Given the description of an element on the screen output the (x, y) to click on. 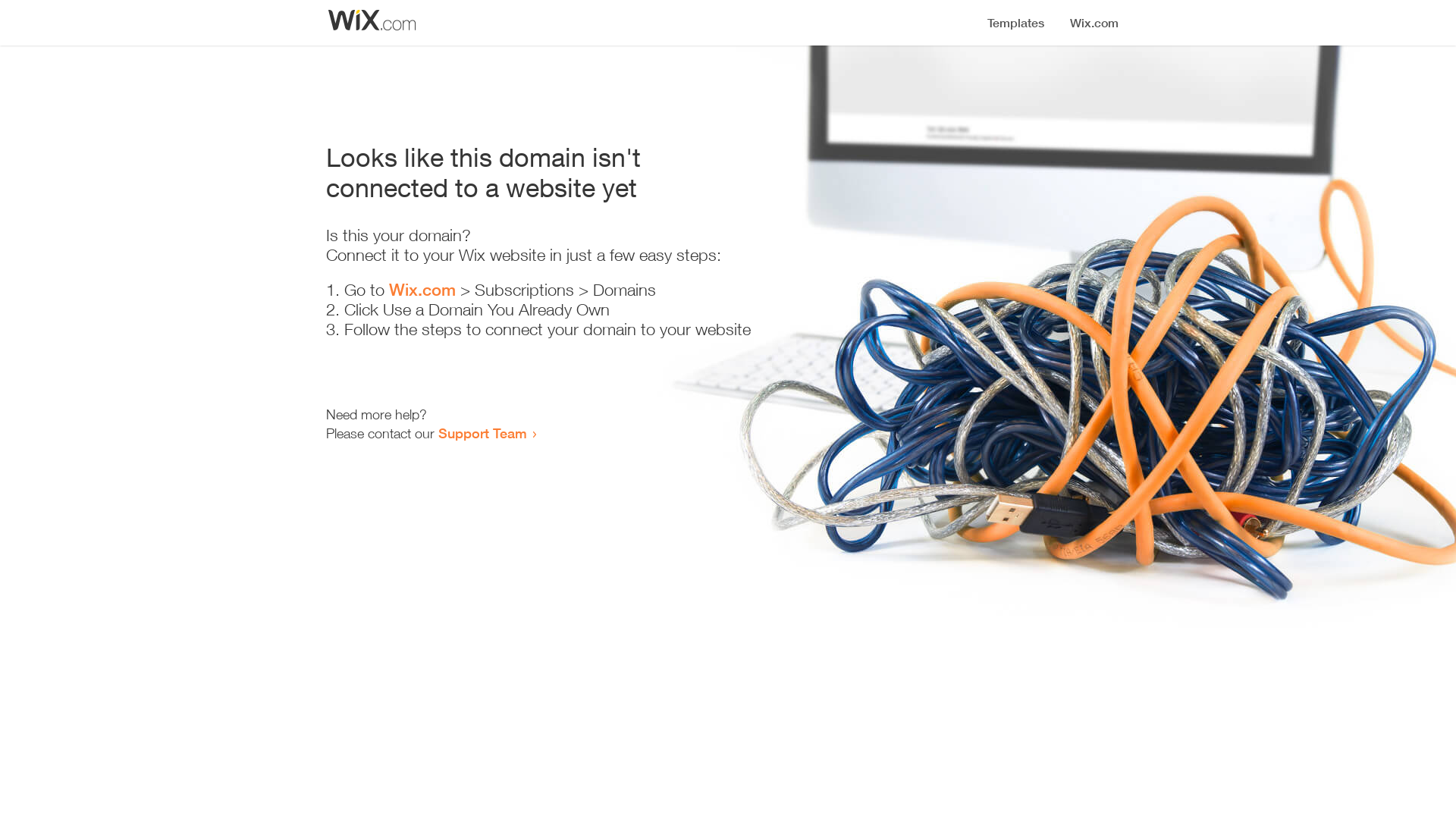
Wix.com Element type: text (422, 289)
Support Team Element type: text (482, 432)
